Given the description of an element on the screen output the (x, y) to click on. 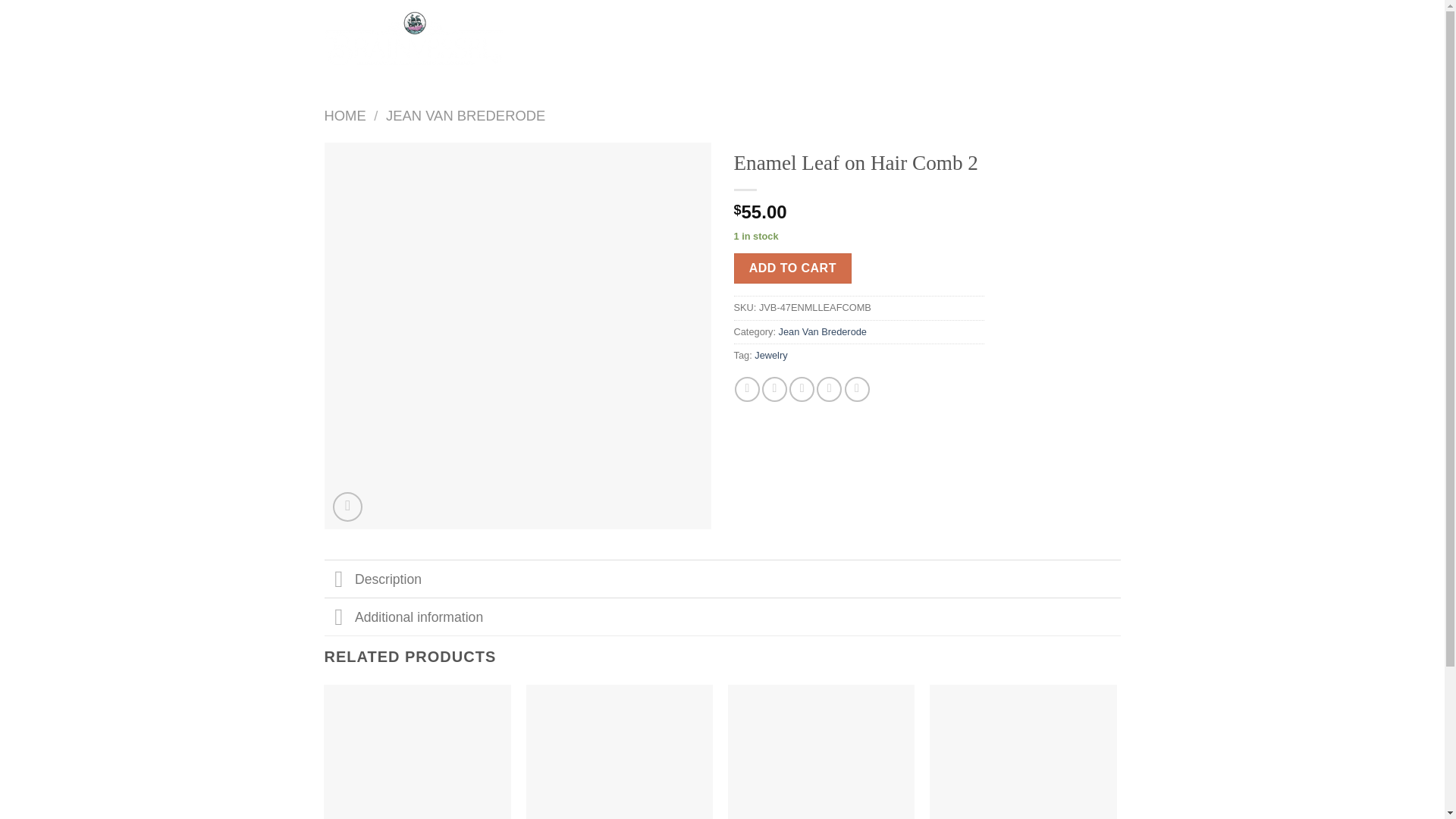
Shop Artists (649, 22)
Share on Facebook (747, 389)
Email to a Friend (801, 389)
Cart (1094, 42)
Share on Twitter (774, 389)
Pin on Pinterest (828, 389)
Zoom (347, 506)
Shop All (577, 22)
Share on LinkedIn (856, 389)
